Given the description of an element on the screen output the (x, y) to click on. 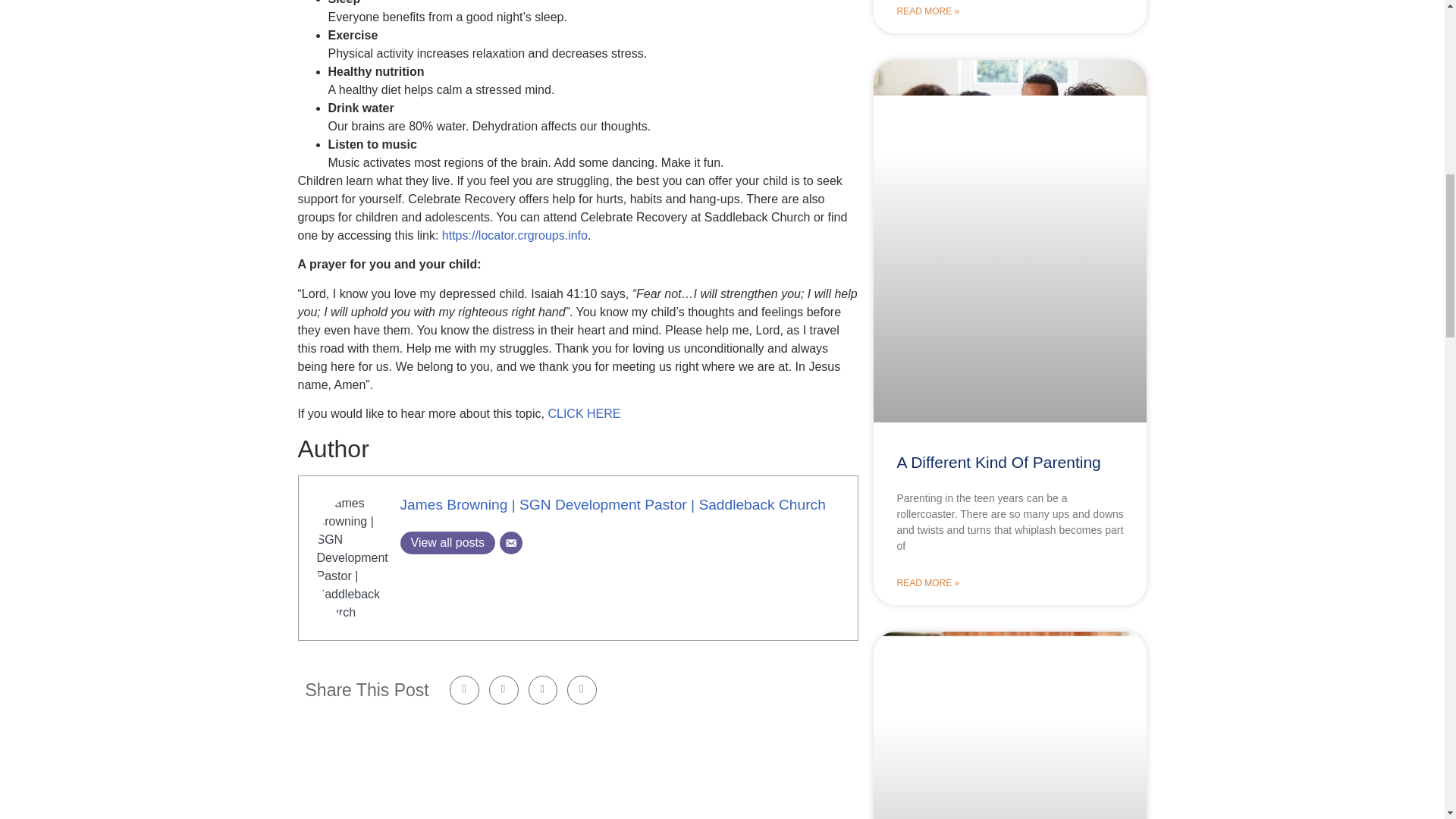
View all posts (448, 542)
View all posts (448, 542)
A Different Kind Of Parenting (998, 461)
CLICK HERE (583, 413)
